Given the description of an element on the screen output the (x, y) to click on. 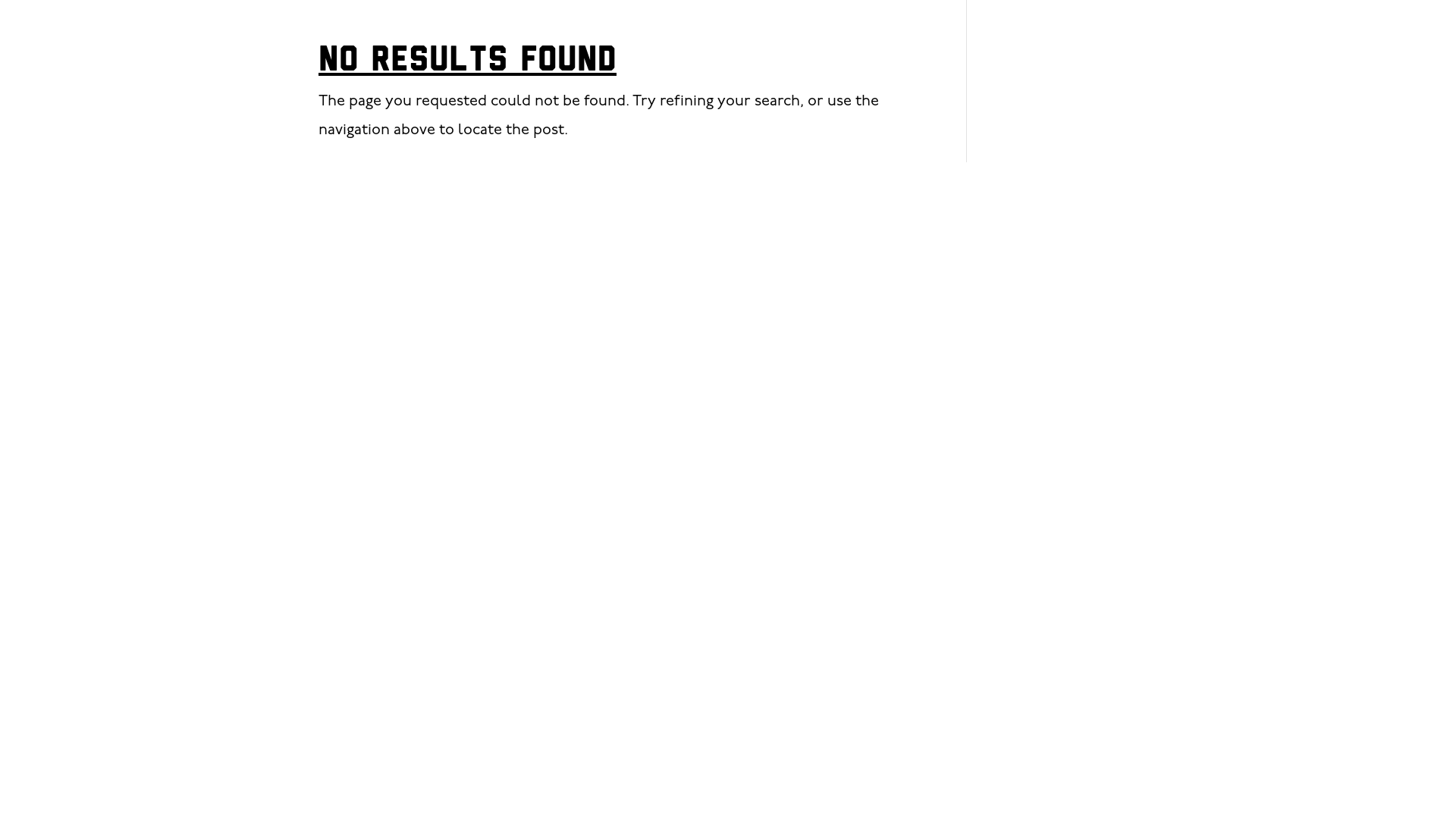
HOME Element type: text (1170, 37)
VISIT Element type: text (1319, 37)
MENU Element type: text (1246, 37)
